Given the description of an element on the screen output the (x, y) to click on. 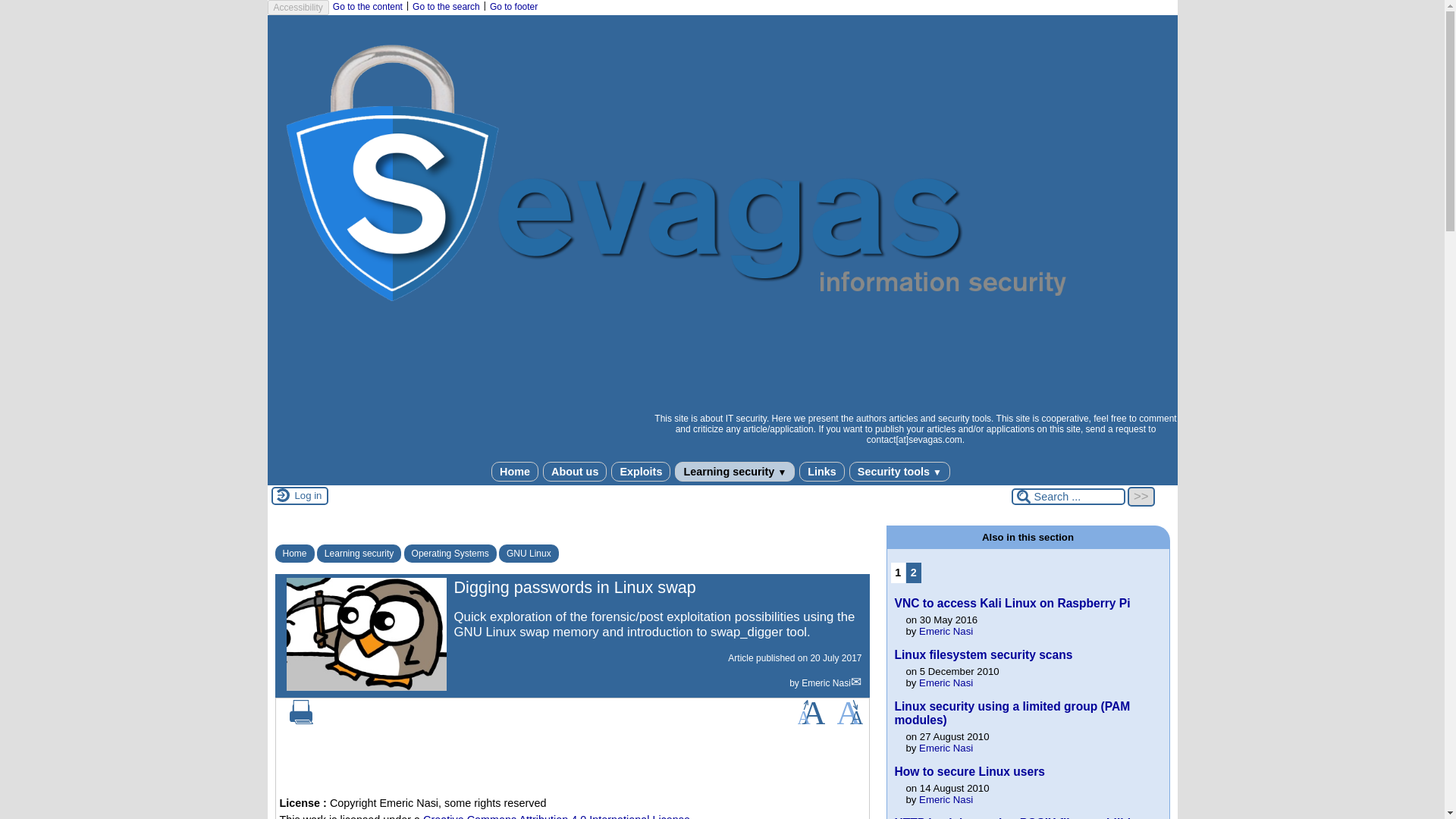
Go to the content (368, 6)
Home (515, 470)
Home (294, 553)
Go to footer (513, 6)
Go to the search (446, 6)
Log in (307, 495)
Accessibility (297, 7)
About us (575, 470)
Exploits (640, 470)
Links (821, 470)
